Given the description of an element on the screen output the (x, y) to click on. 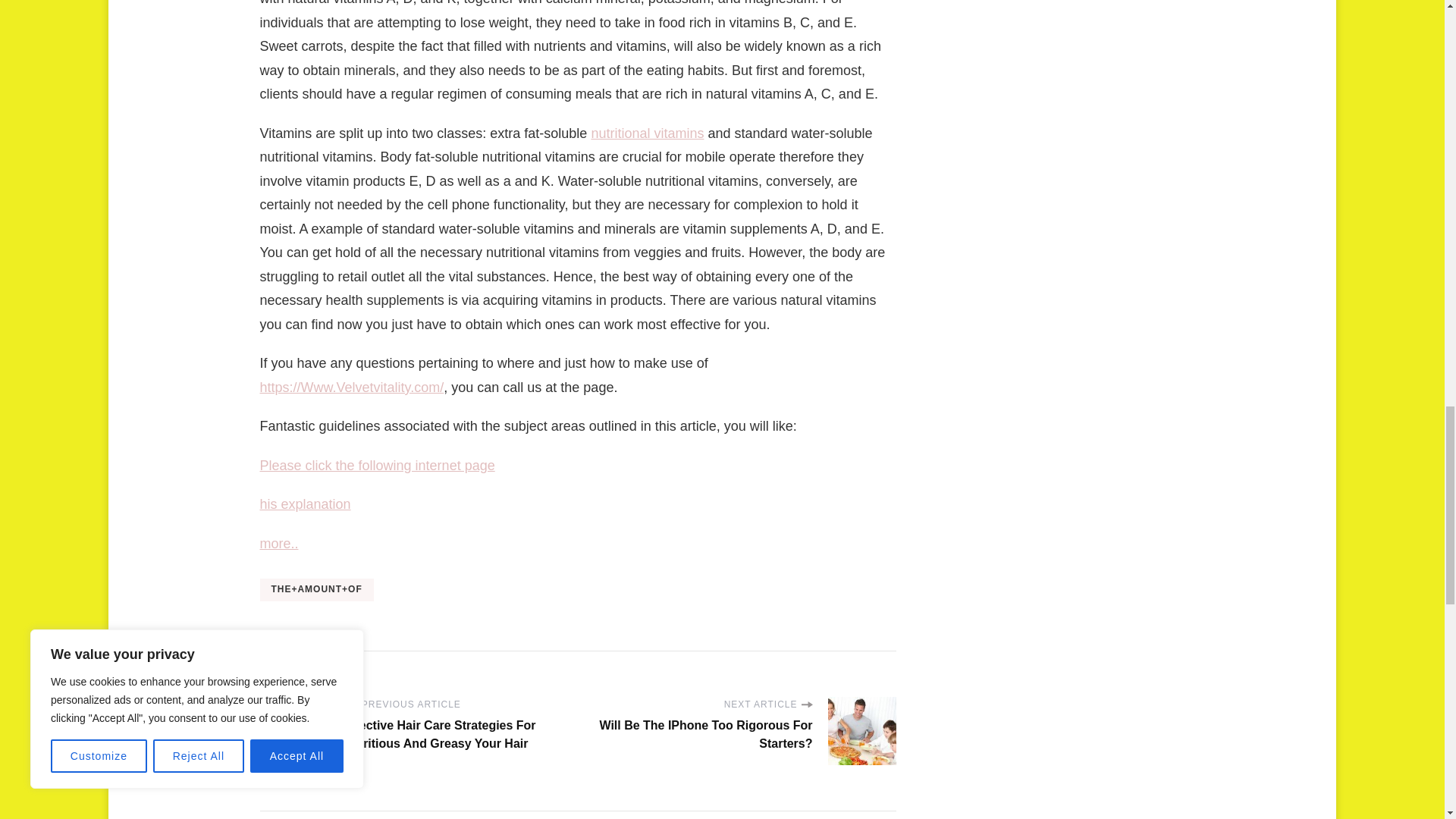
his explanation (304, 503)
more.. (278, 543)
Please click the following internet page (377, 465)
nutritional vitamins (647, 133)
